Given the description of an element on the screen output the (x, y) to click on. 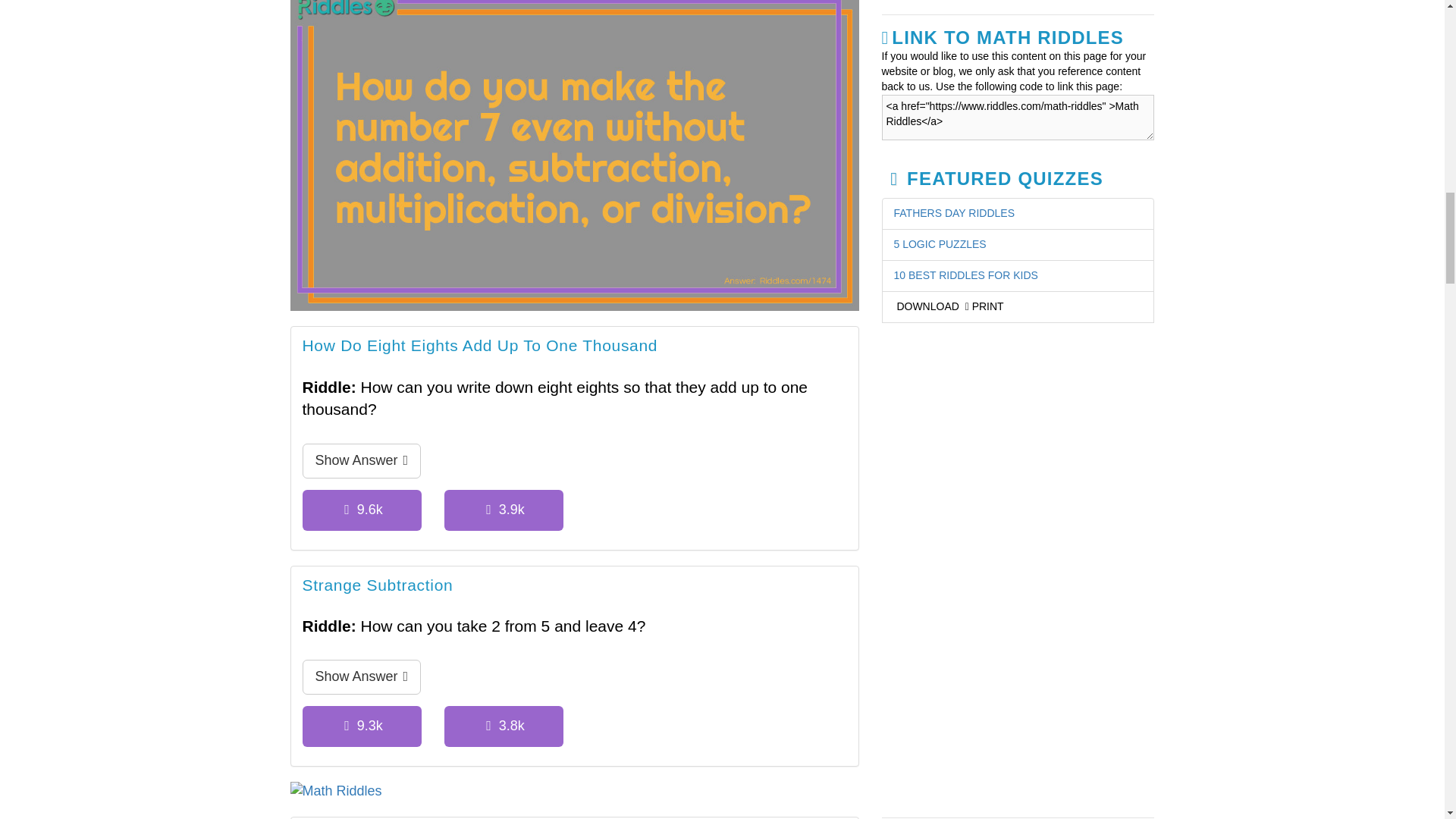
Show Answer (360, 677)
Strange Subtraction (376, 586)
Math Riddles (574, 791)
How Do Eight Eights Add Up To One Thousand (479, 346)
Show Answer (360, 460)
